Given the description of an element on the screen output the (x, y) to click on. 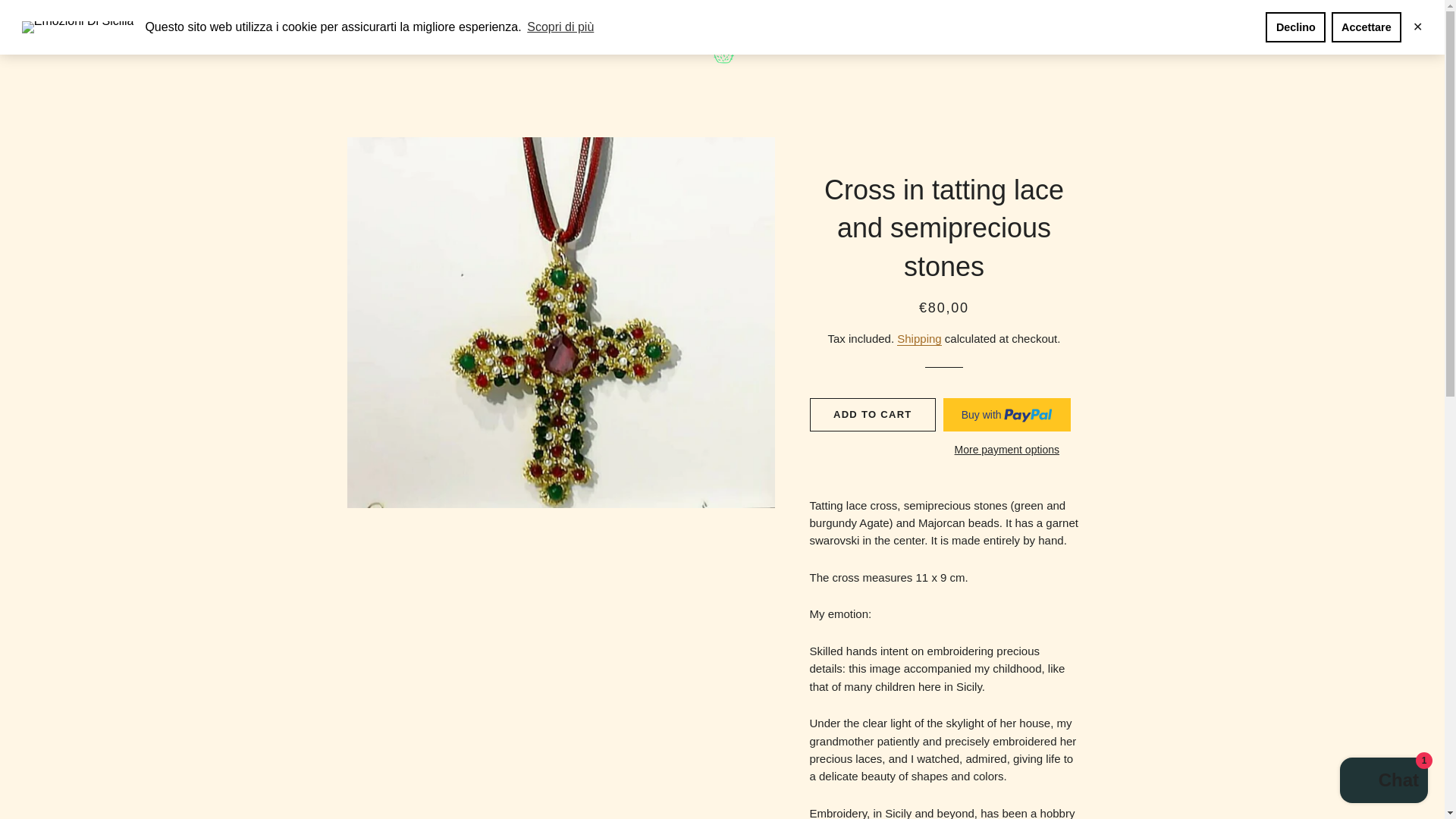
SITE NAVIGATION (358, 38)
More payment options (1006, 450)
Accettare (1367, 27)
Shipping (918, 338)
Declino (1294, 27)
Shopify online store chat (1383, 781)
ADD TO CART (872, 414)
